Given the description of an element on the screen output the (x, y) to click on. 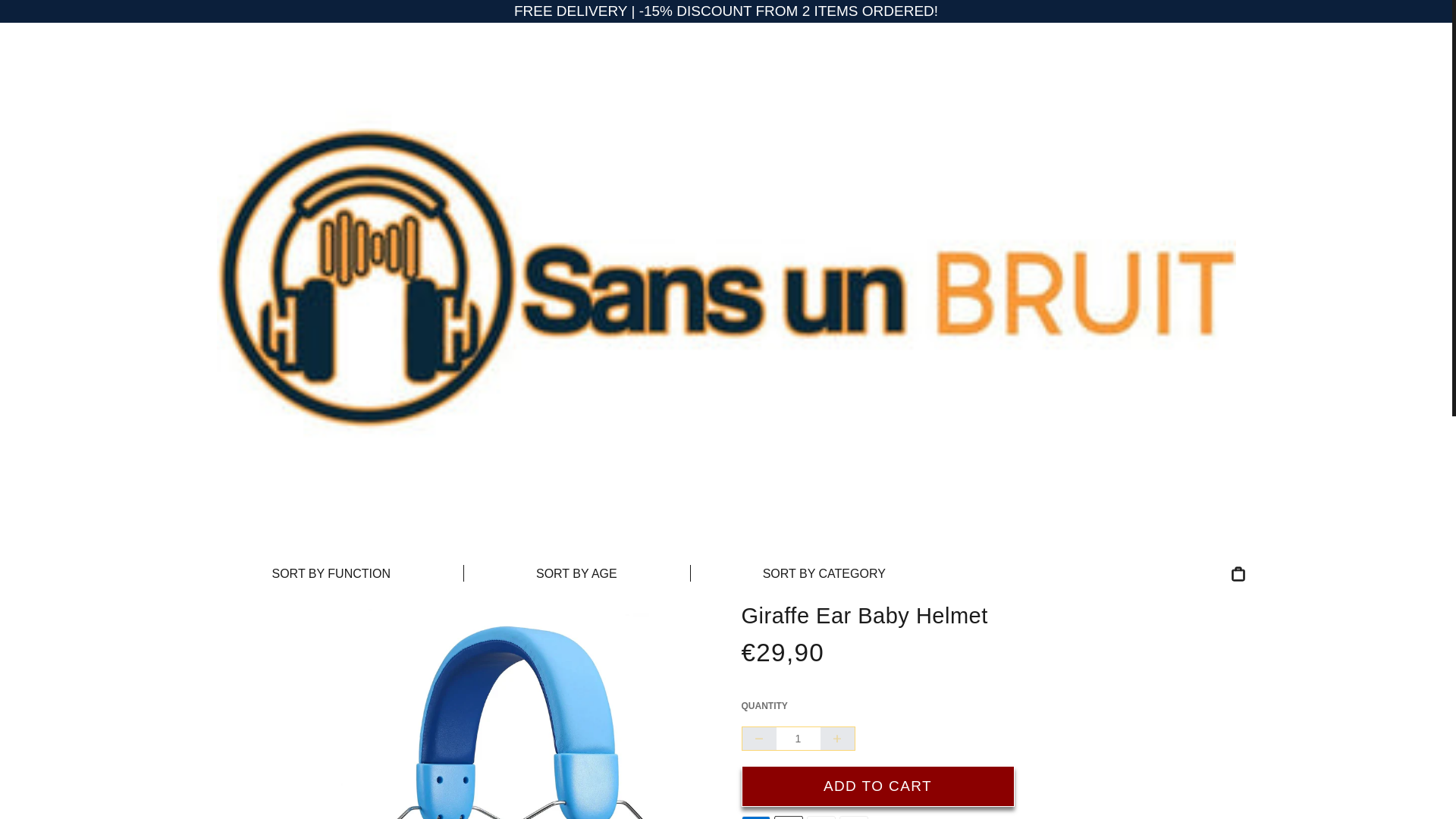
Collapse quantity of Giraffe Ear Baby Helmet (758, 738)
Visa (852, 817)
casque-bebe-pour-oreilles (503, 710)
Mastercard (820, 817)
SORT BY AGE (576, 573)
SORT BY CATEGORY (824, 573)
SORT BY FUNCTION (330, 573)
1 (798, 738)
Apple Pay (787, 817)
American Express (755, 817)
